Given the description of an element on the screen output the (x, y) to click on. 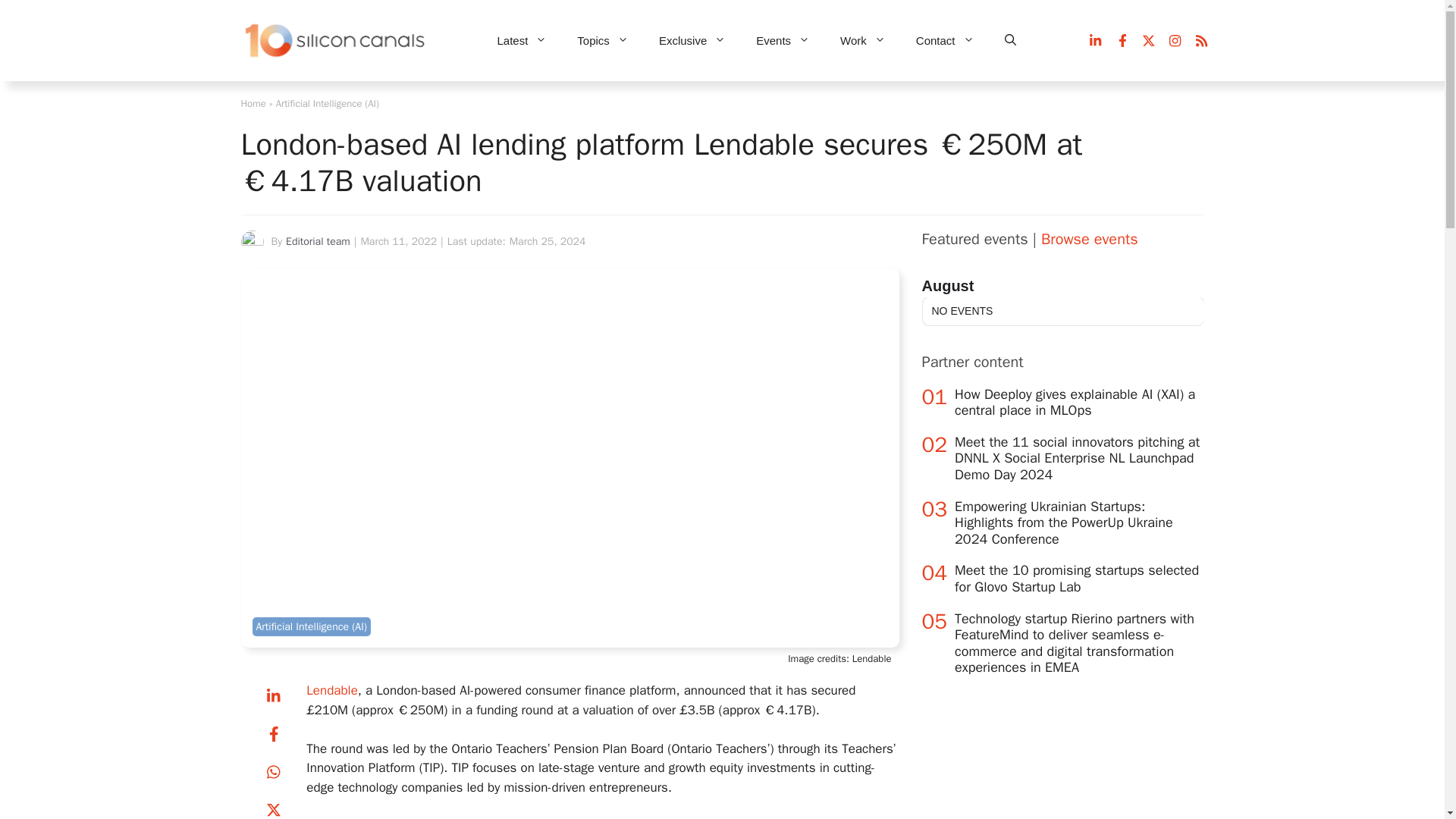
Topics (602, 40)
Events (783, 40)
Latest (521, 40)
Work (863, 40)
SC 10 year horizontal (335, 40)
Exclusive (692, 40)
